Given the description of an element on the screen output the (x, y) to click on. 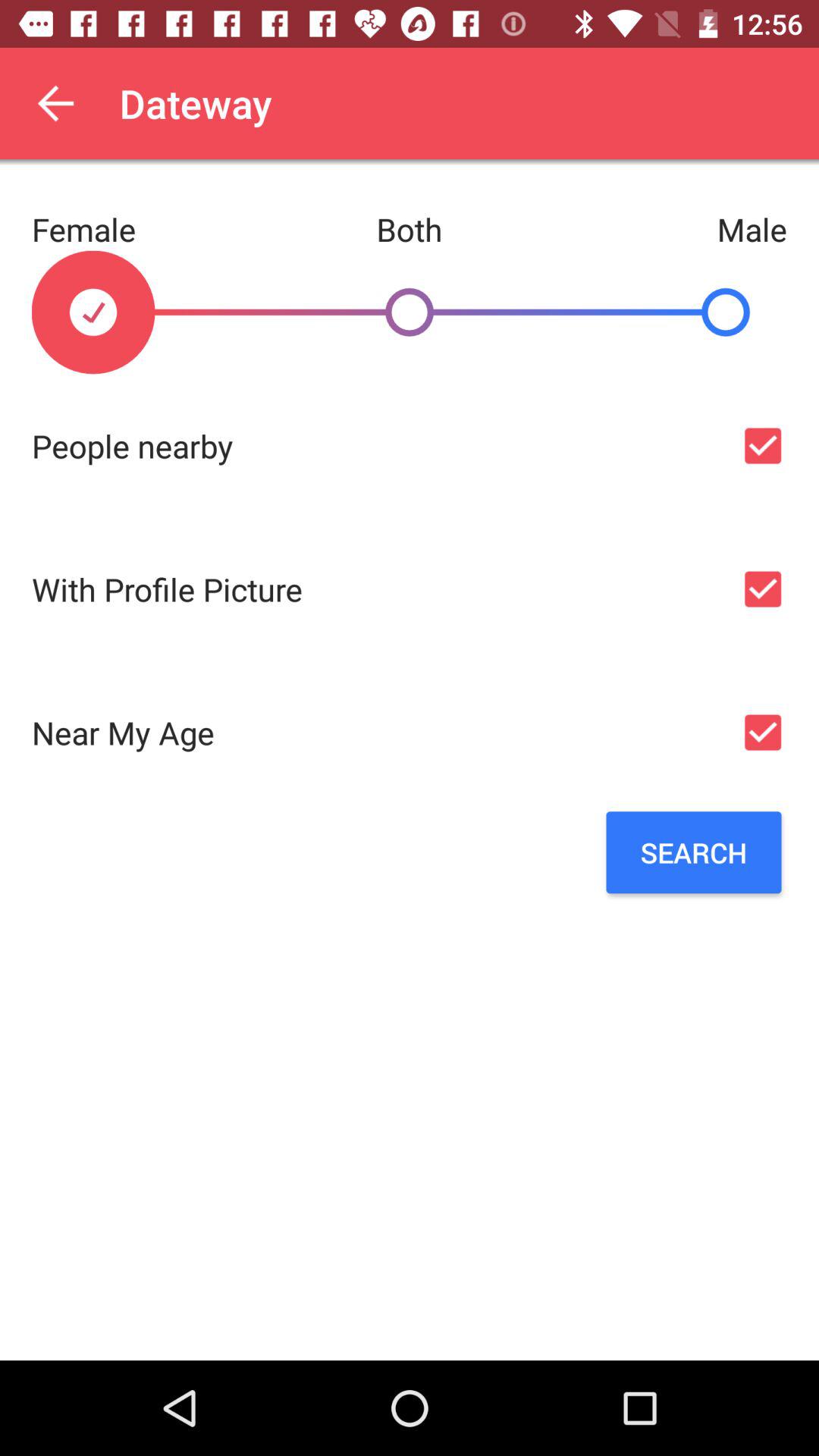
check age option (762, 732)
